Given the description of an element on the screen output the (x, y) to click on. 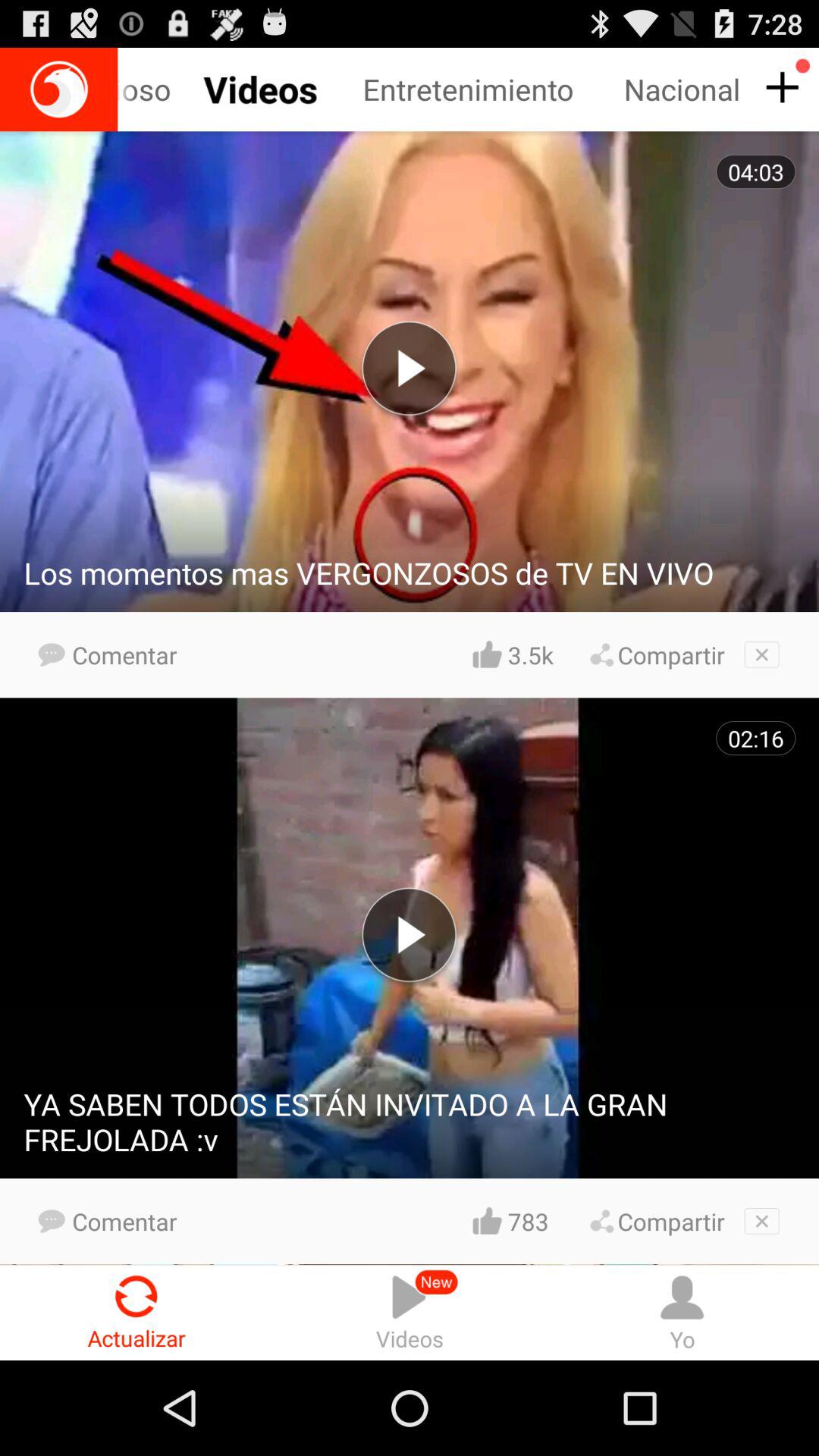
close (761, 654)
